Given the description of an element on the screen output the (x, y) to click on. 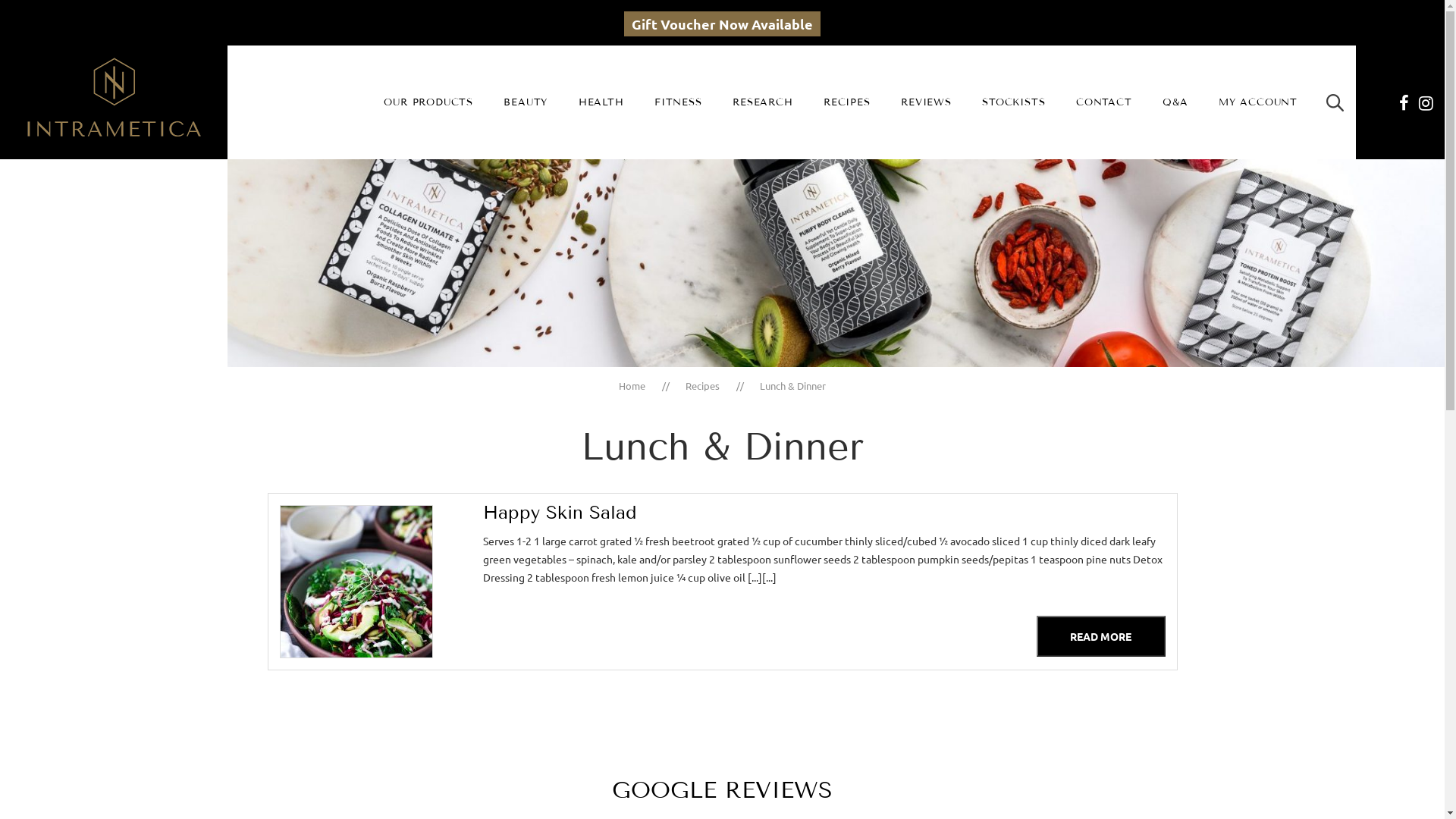
OUR PRODUCTS Element type: text (428, 102)
CONTACT Element type: text (1104, 102)
Read More Element type: text (1099, 635)
FITNESS Element type: text (678, 102)
Lunch & Dinner Element type: text (792, 385)
Sign up Element type: text (722, 256)
Recipes Element type: text (702, 385)
Facebook Element type: hover (1403, 102)
BEAUTY Element type: text (525, 102)
Gift Voucher Now Available Element type: text (722, 24)
RECIPES Element type: text (846, 102)
Instagram Element type: hover (1425, 102)
REVIEWS Element type: text (925, 102)
RESEARCH Element type: text (762, 102)
MY ACCOUNT Element type: text (1257, 102)
STOCKISTS Element type: text (1013, 102)
Home Element type: text (631, 385)
Intrametica Element type: hover (113, 100)
Q&A Element type: text (1174, 102)
HEALTH Element type: text (601, 102)
Happy Skin Salad Element type: text (823, 512)
